Given the description of an element on the screen output the (x, y) to click on. 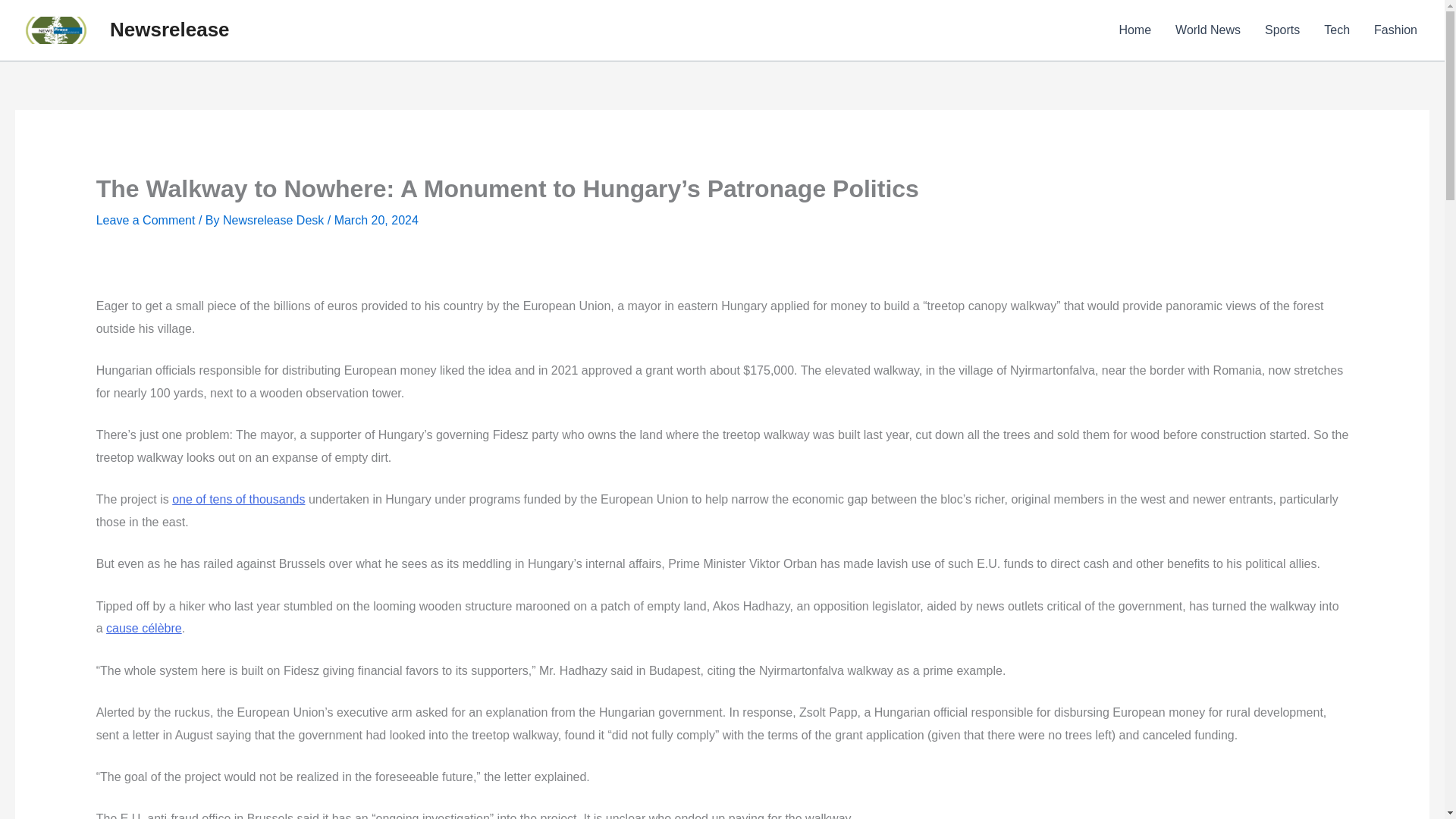
Fashion (1395, 30)
World News (1207, 30)
Leave a Comment (145, 219)
Newsrelease Desk (274, 219)
View all posts by Newsrelease Desk (274, 219)
Newsrelease (170, 29)
Home (1134, 30)
one of tens of thousands (237, 499)
Sports (1281, 30)
